Given the description of an element on the screen output the (x, y) to click on. 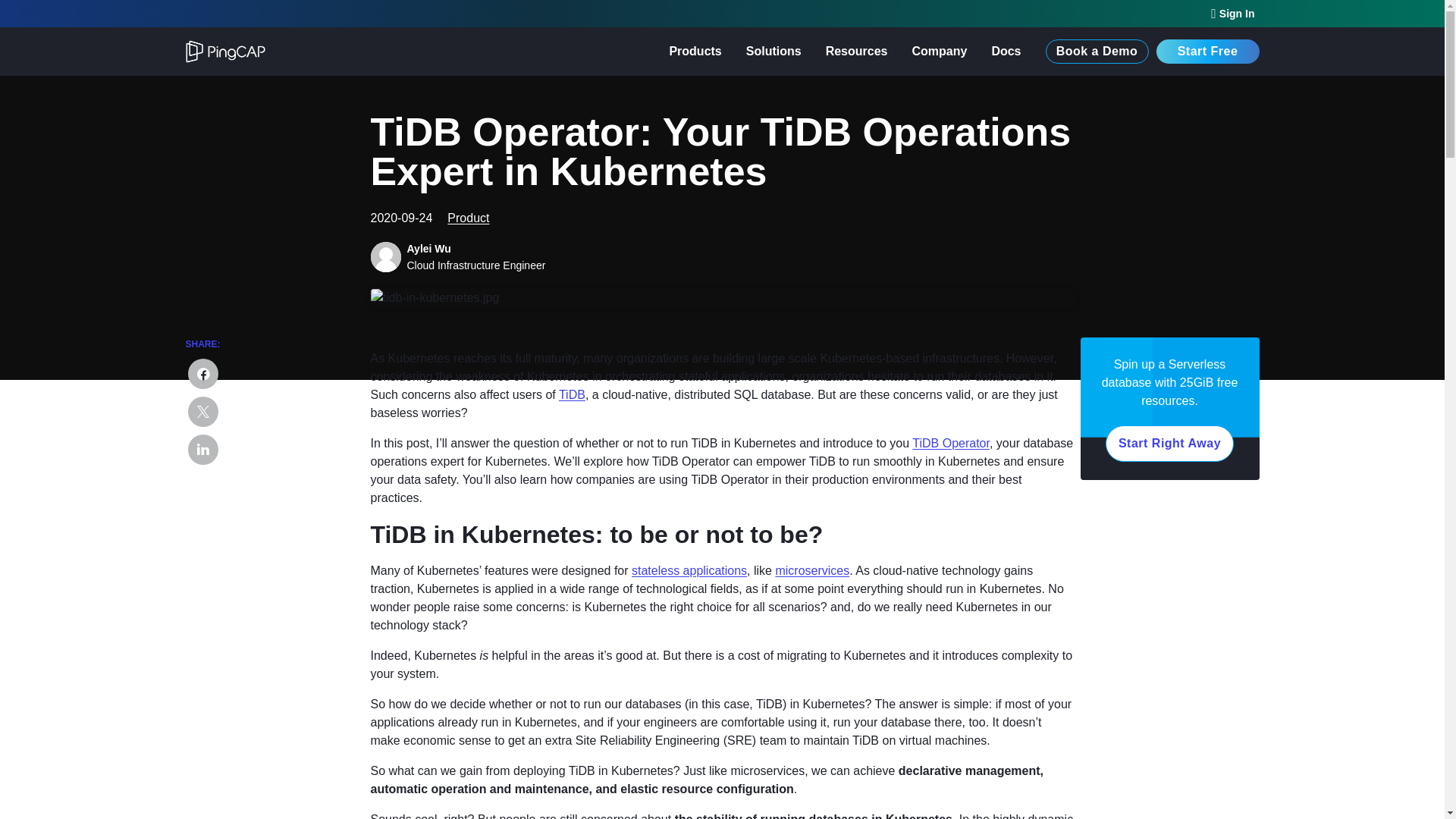
Solutions (773, 51)
PingCAP (252, 51)
Resources (856, 51)
Docs (1005, 51)
Sign In (1232, 13)
Products (694, 51)
Company (938, 51)
